Given the description of an element on the screen output the (x, y) to click on. 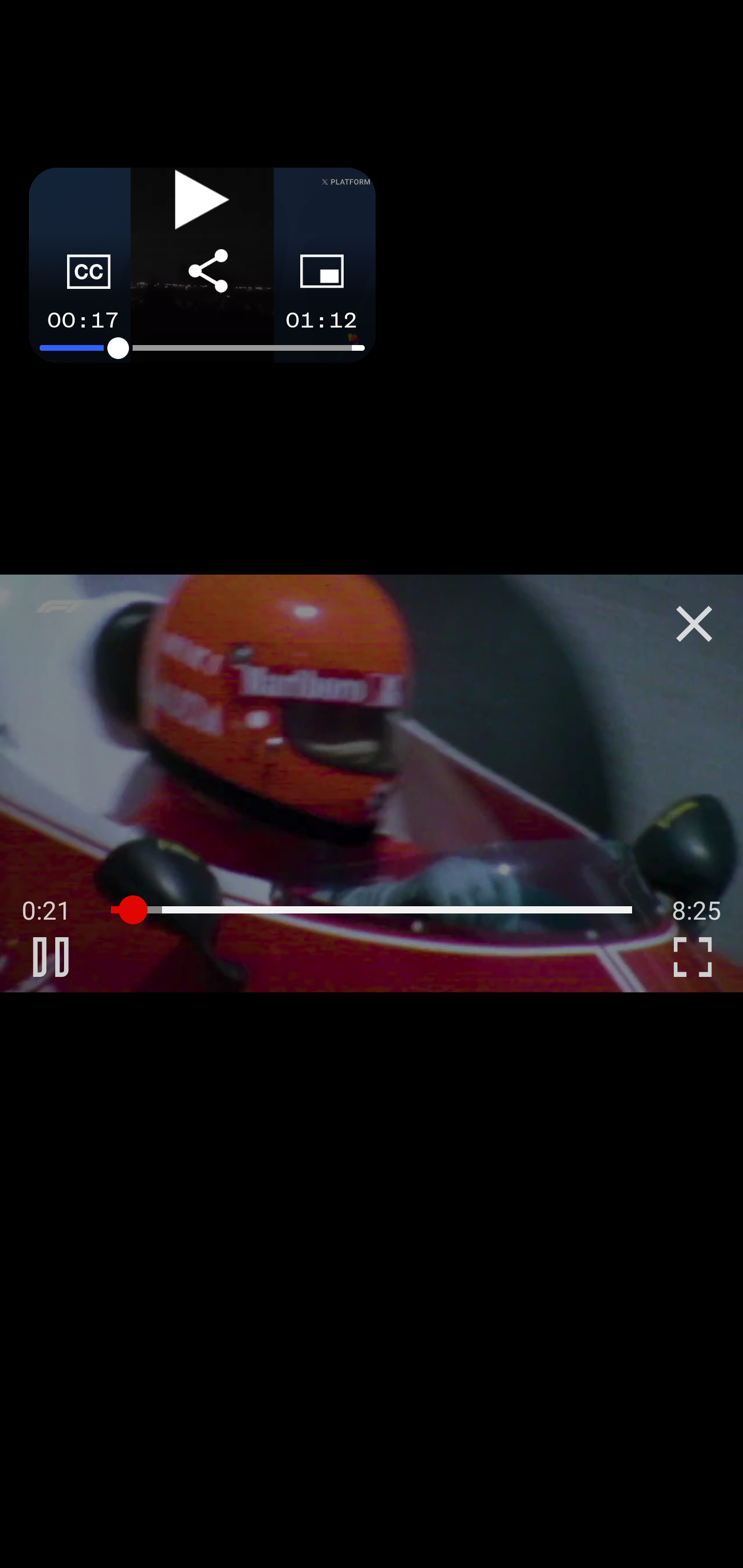
 Close (693, 623)
B Pause (50, 956)
C Enter Fullscreen (692, 956)
